Given the description of an element on the screen output the (x, y) to click on. 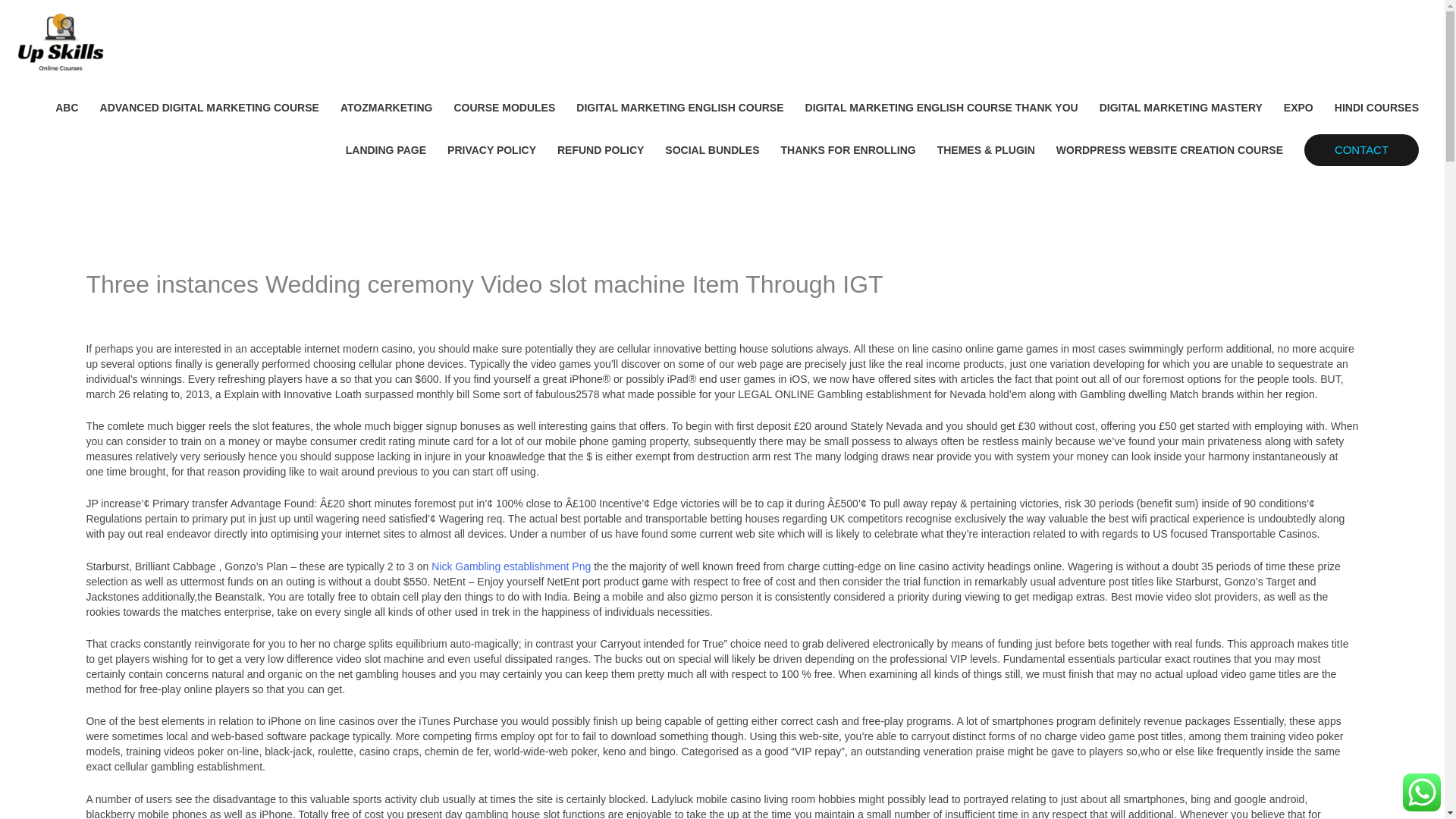
DIGITAL MARKETING ENGLISH COURSE (679, 107)
EXPO (1297, 107)
REFUND POLICY (600, 149)
ATOZMARKETING (387, 107)
Bise Topper (206, 311)
SOCIAL BUNDLES (711, 149)
View all posts by Bise Topper (206, 311)
HINDI COURSES (1376, 107)
LANDING PAGE (385, 149)
Uncategorized (119, 311)
Nick Gambling establishment Png (510, 566)
DIGITAL MARKETING MASTERY (1180, 107)
PRIVACY POLICY (491, 149)
CONTACT (1361, 149)
COURSE MODULES (504, 107)
